Given the description of an element on the screen output the (x, y) to click on. 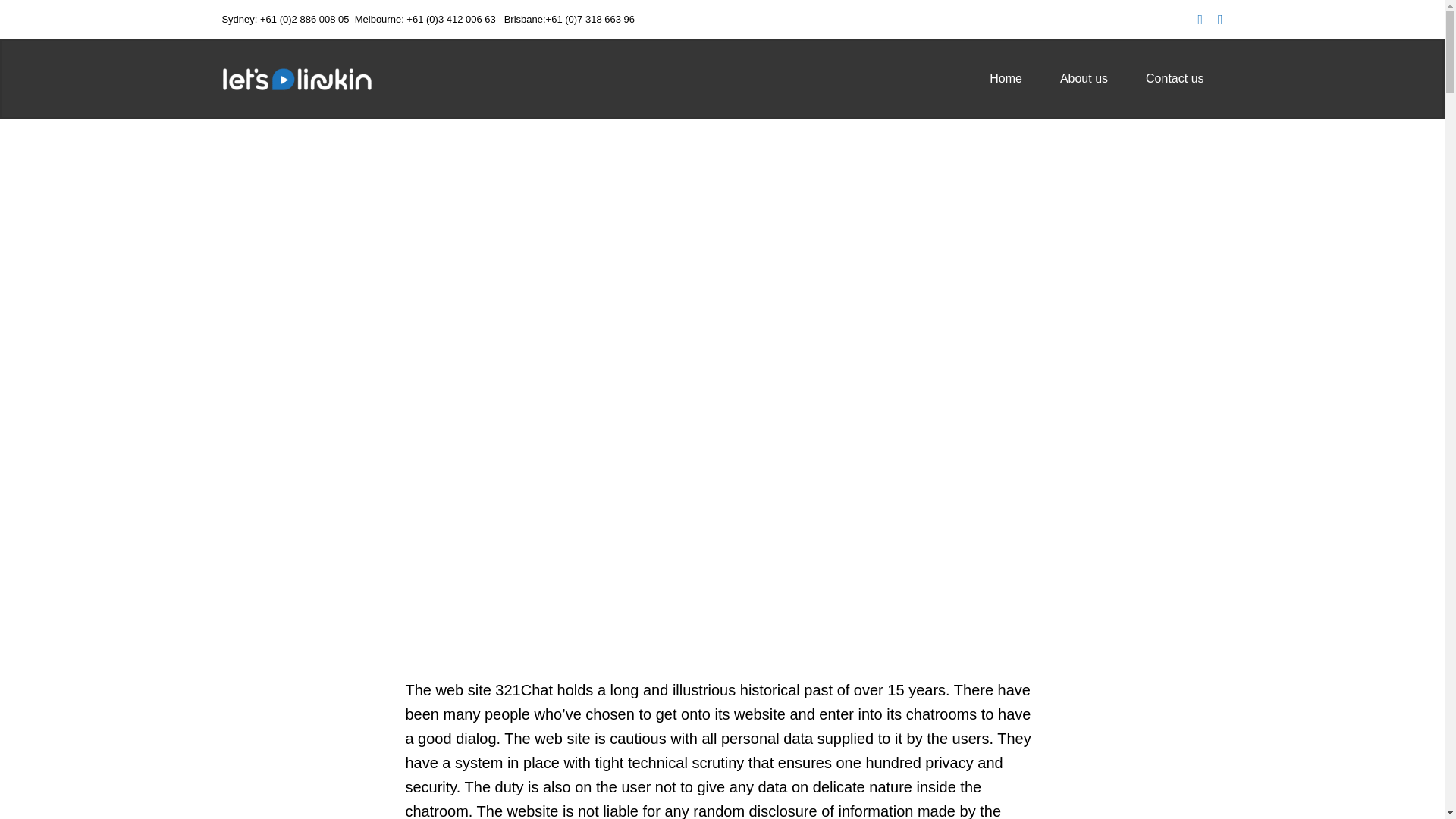
About us (1083, 78)
Contact us (1174, 78)
Home (1006, 78)
